Given the description of an element on the screen output the (x, y) to click on. 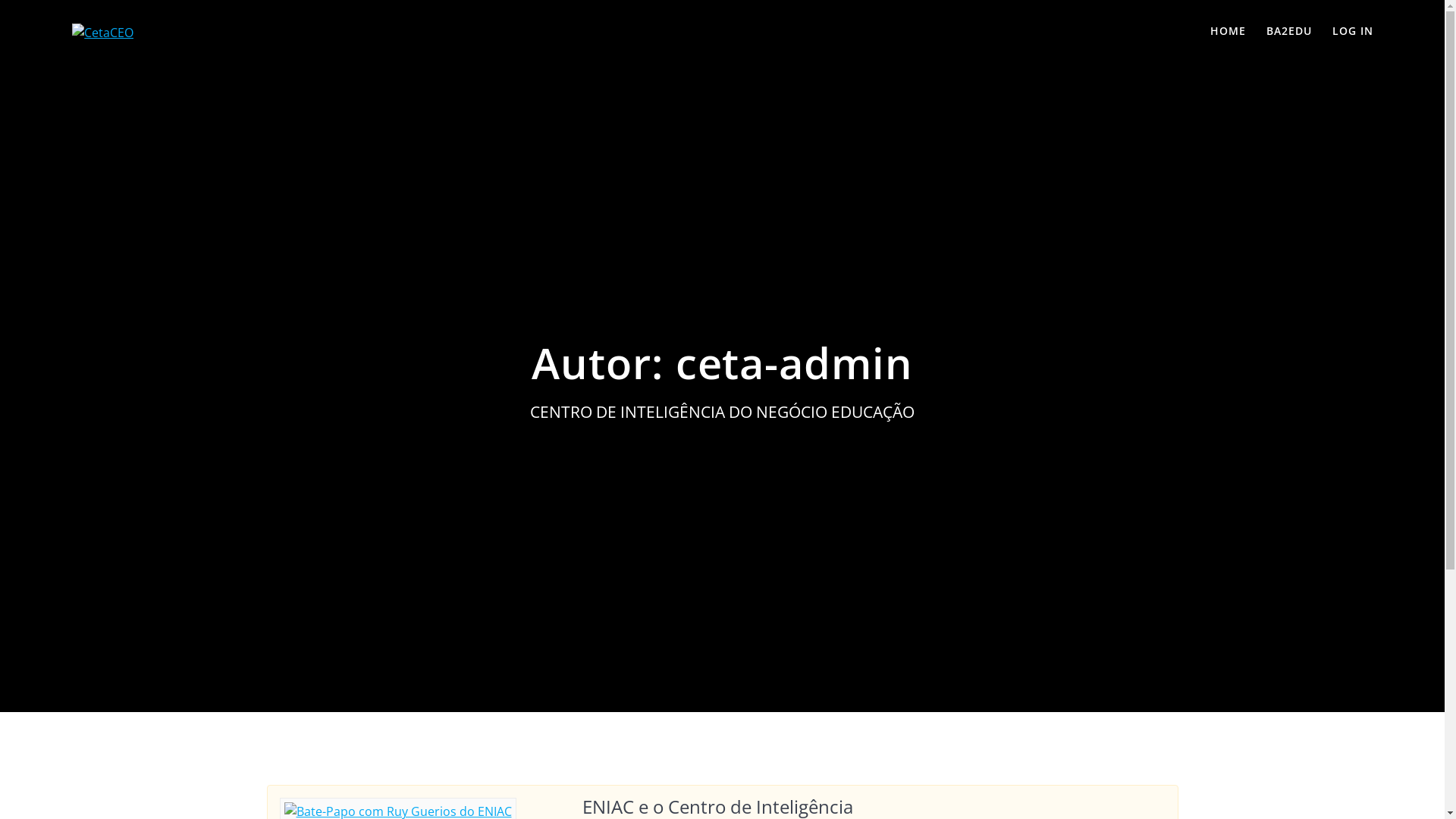
BA2EDU Element type: text (1288, 31)
HOME Element type: text (1227, 31)
LOG IN Element type: text (1352, 31)
